Given the description of an element on the screen output the (x, y) to click on. 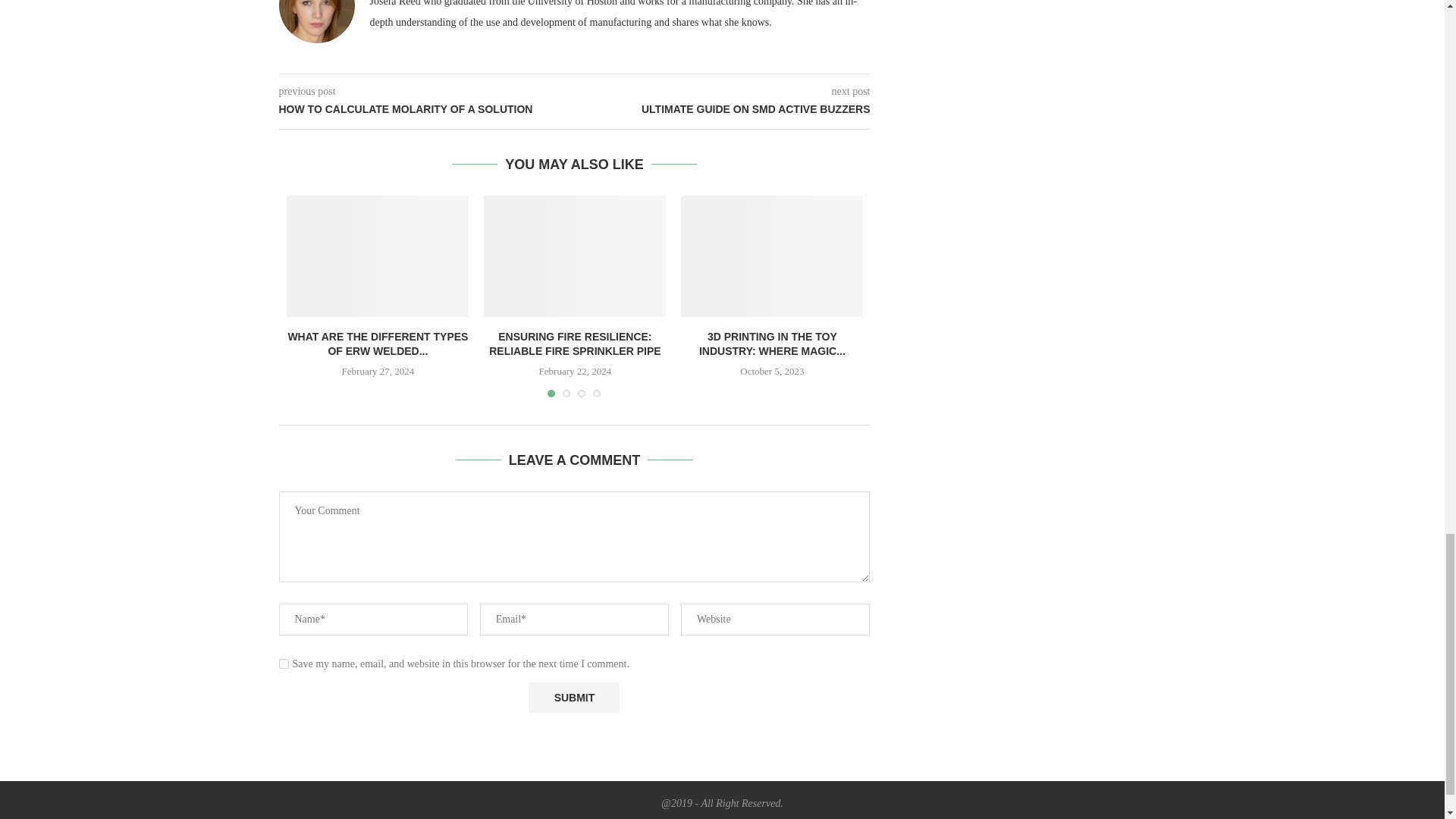
HOW TO CALCULATE MOLARITY OF A SOLUTION (427, 109)
ENSURING FIRE RESILIENCE: RELIABLE FIRE SPRINKLER PIPE (575, 343)
Ensuring Fire Resilience: Reliable Fire Sprinkler Pipe (574, 255)
3D PRINTING IN THE TOY INDUSTRY: WHERE MAGIC... (771, 343)
What Are The Different Types Of ERW Welded Pipe? (377, 255)
Submit (574, 697)
ULTIMATE GUIDE ON SMD ACTIVE BUZZERS (722, 109)
WHAT ARE THE DIFFERENT TYPES OF ERW WELDED... (376, 343)
yes (283, 664)
